Given the description of an element on the screen output the (x, y) to click on. 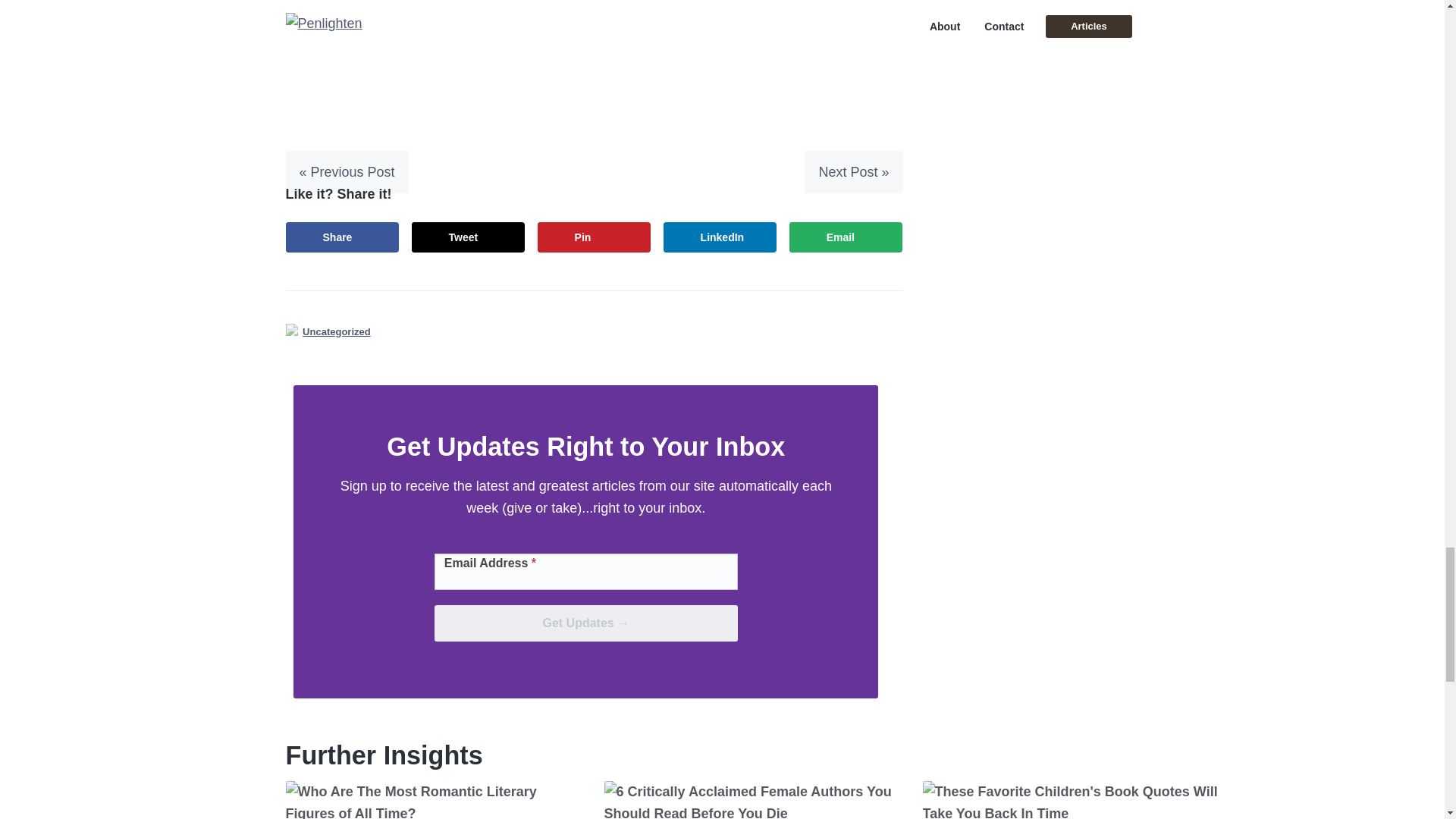
LinkedIn (720, 236)
Share (341, 236)
Email (845, 236)
Share on LinkedIn (720, 236)
Send over email (845, 236)
Share on Facebook (341, 236)
Uncategorized (336, 331)
Save to Pinterest (593, 236)
